Given the description of an element on the screen output the (x, y) to click on. 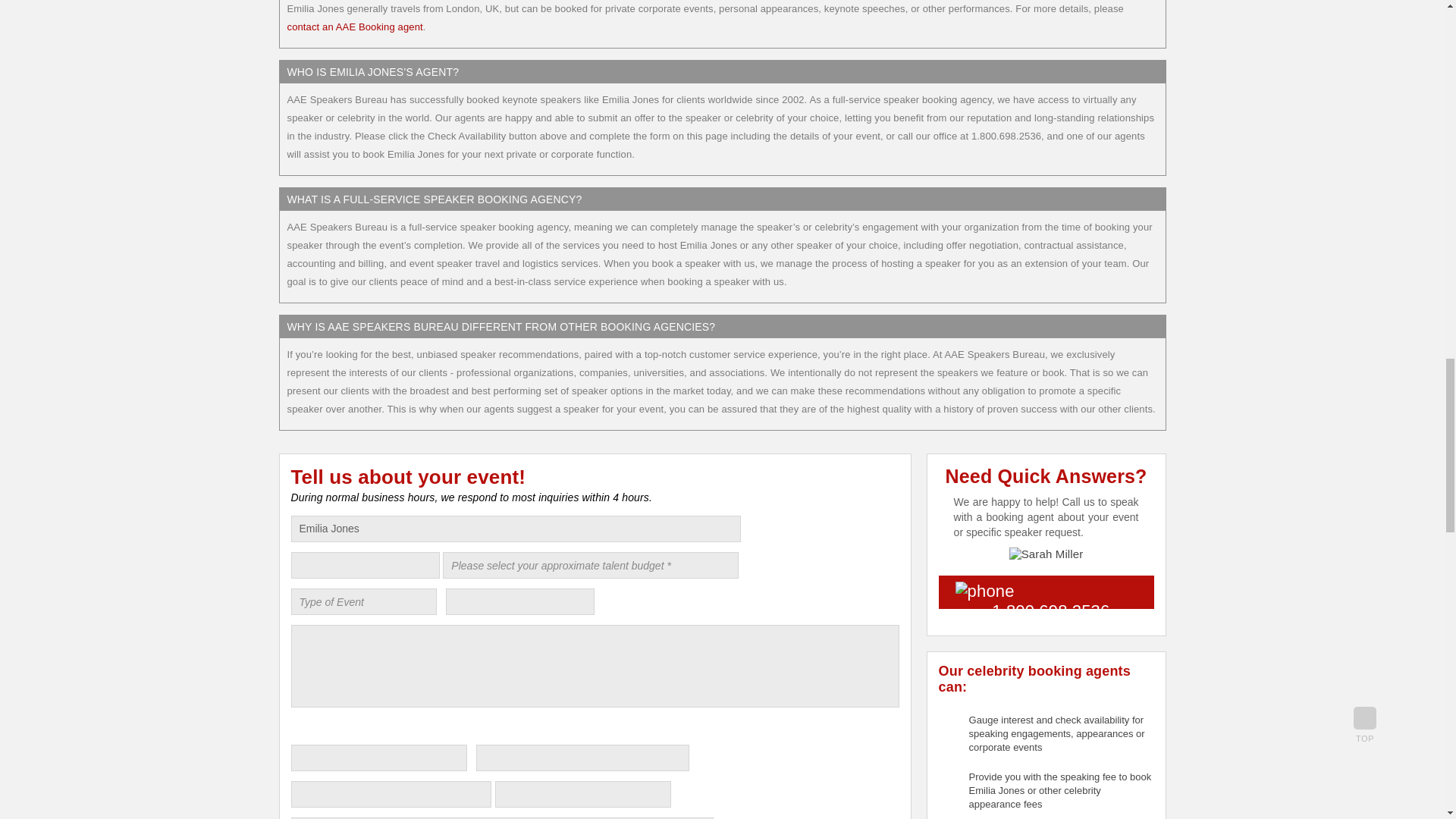
Emilia Jones (516, 528)
